Given the description of an element on the screen output the (x, y) to click on. 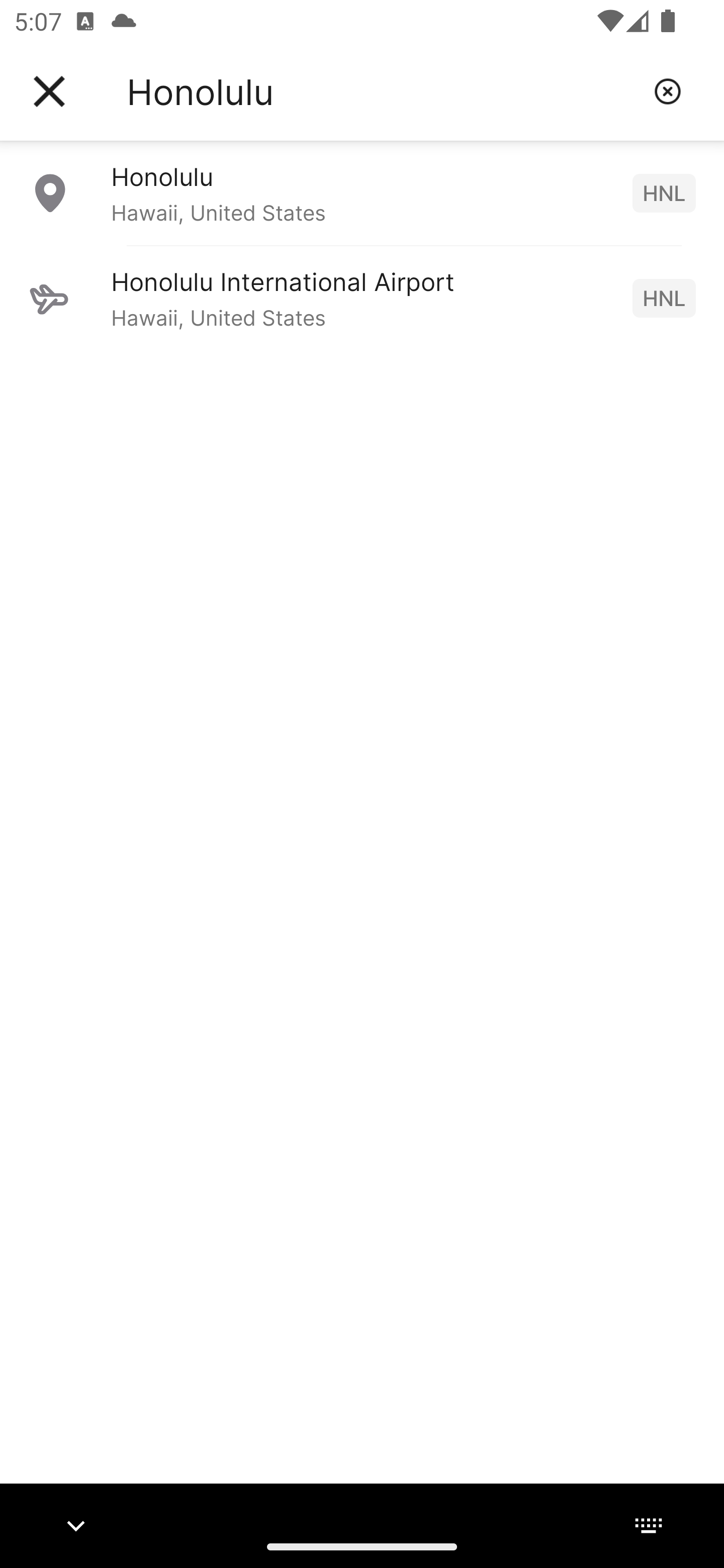
Honolulu (382, 91)
Honolulu Hawaii, United States HNL (362, 192)
